Given the description of an element on the screen output the (x, y) to click on. 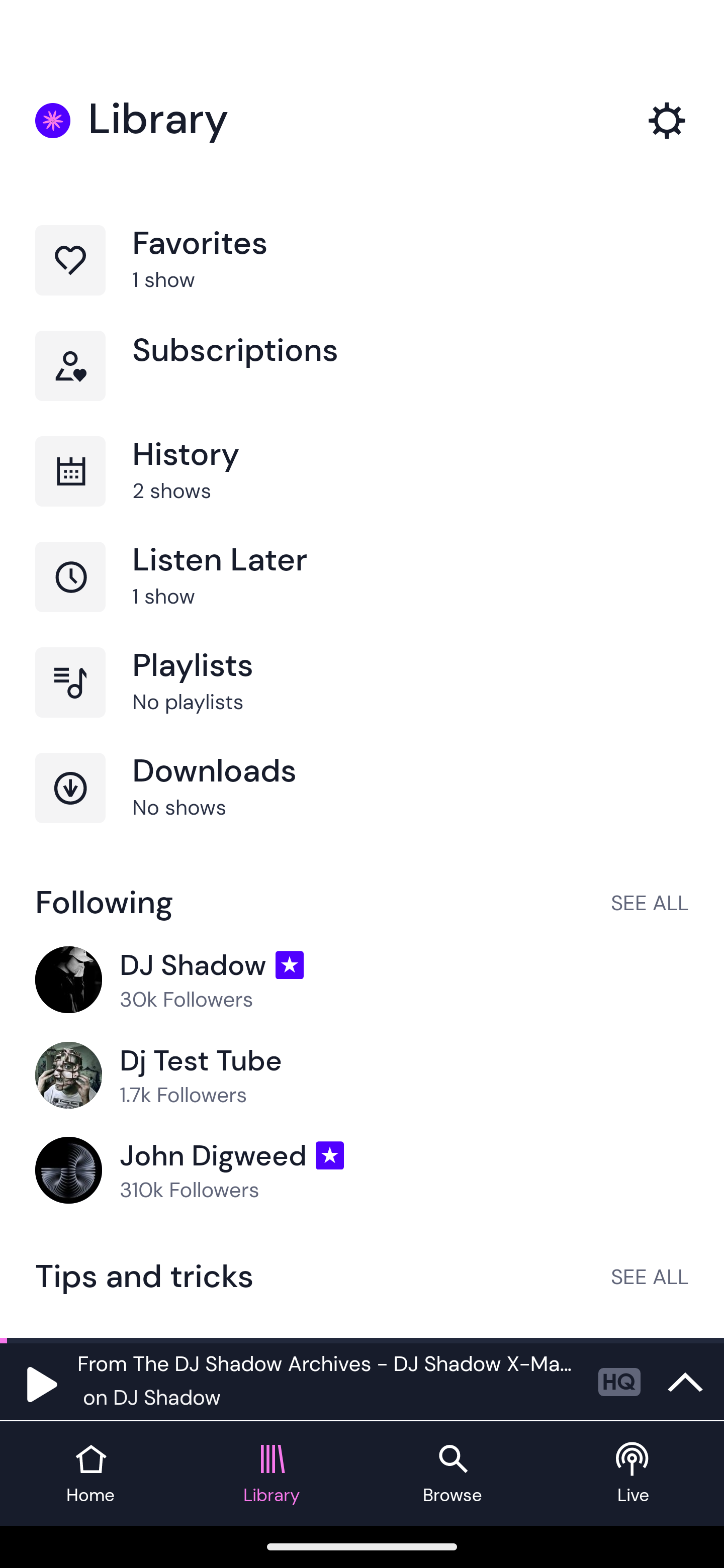
Favorites, 1 show Favorites 1 show (361, 277)
Subscriptions (361, 382)
History, 2 shows History 2 shows (361, 488)
Listen Later, 1 show Listen Later 1 show (361, 594)
Playlists, No playlists Playlists No playlists (361, 699)
Downloads, No shows Downloads No shows (361, 804)
SEE ALL (649, 902)
DJ Shadow, 30k Followers DJ Shadow 30k Followers (361, 980)
SEE ALL (649, 1276)
Home tab Home (90, 1473)
Library tab Library (271, 1473)
Browse tab Browse (452, 1473)
Live tab Live (633, 1473)
